Given the description of an element on the screen output the (x, y) to click on. 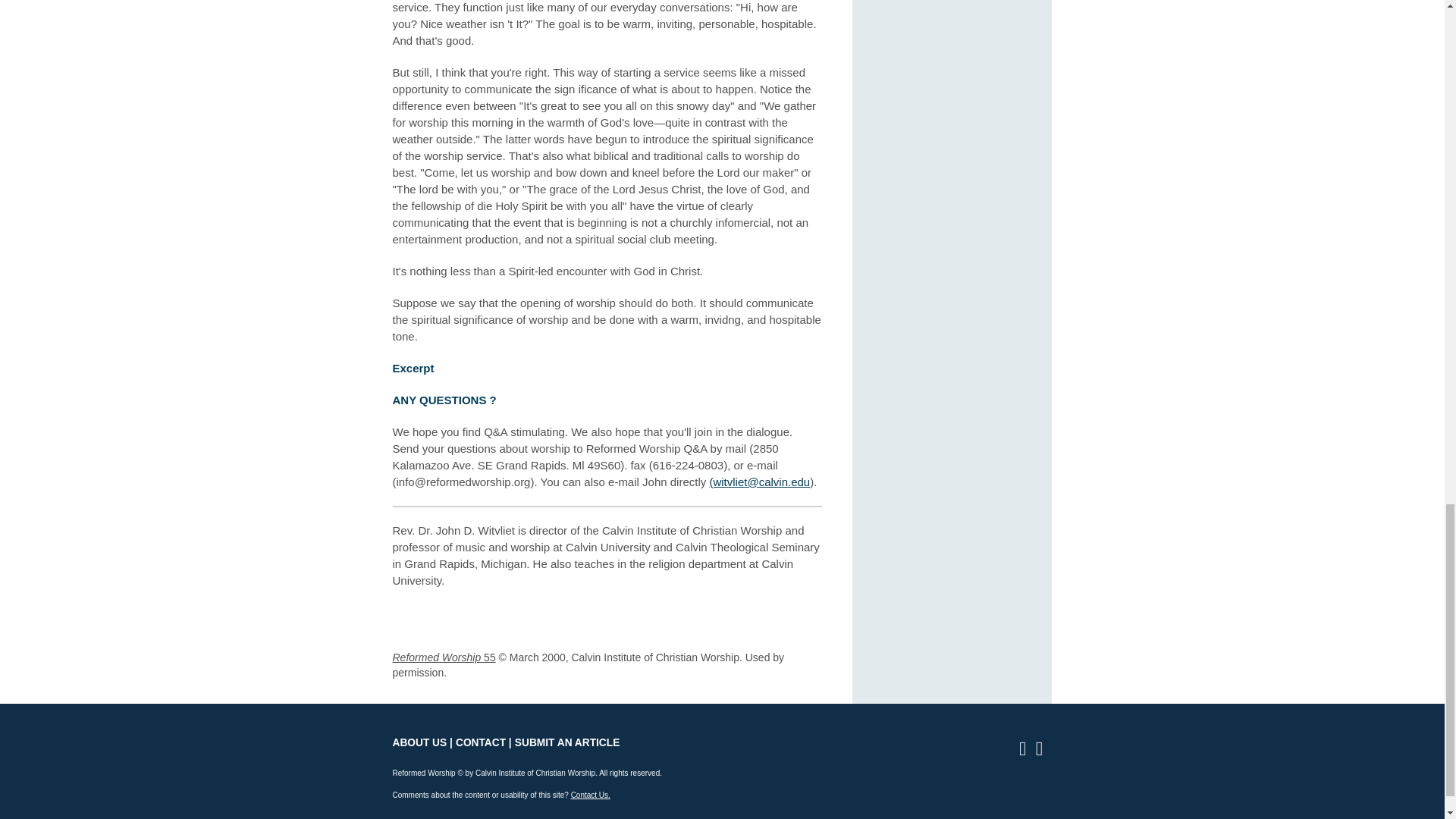
Reformed Worship 55 (444, 657)
CONTACT (480, 742)
SUBMIT AN ARTICLE (567, 742)
Twitter (1043, 750)
ABOUT US (419, 742)
